Given the description of an element on the screen output the (x, y) to click on. 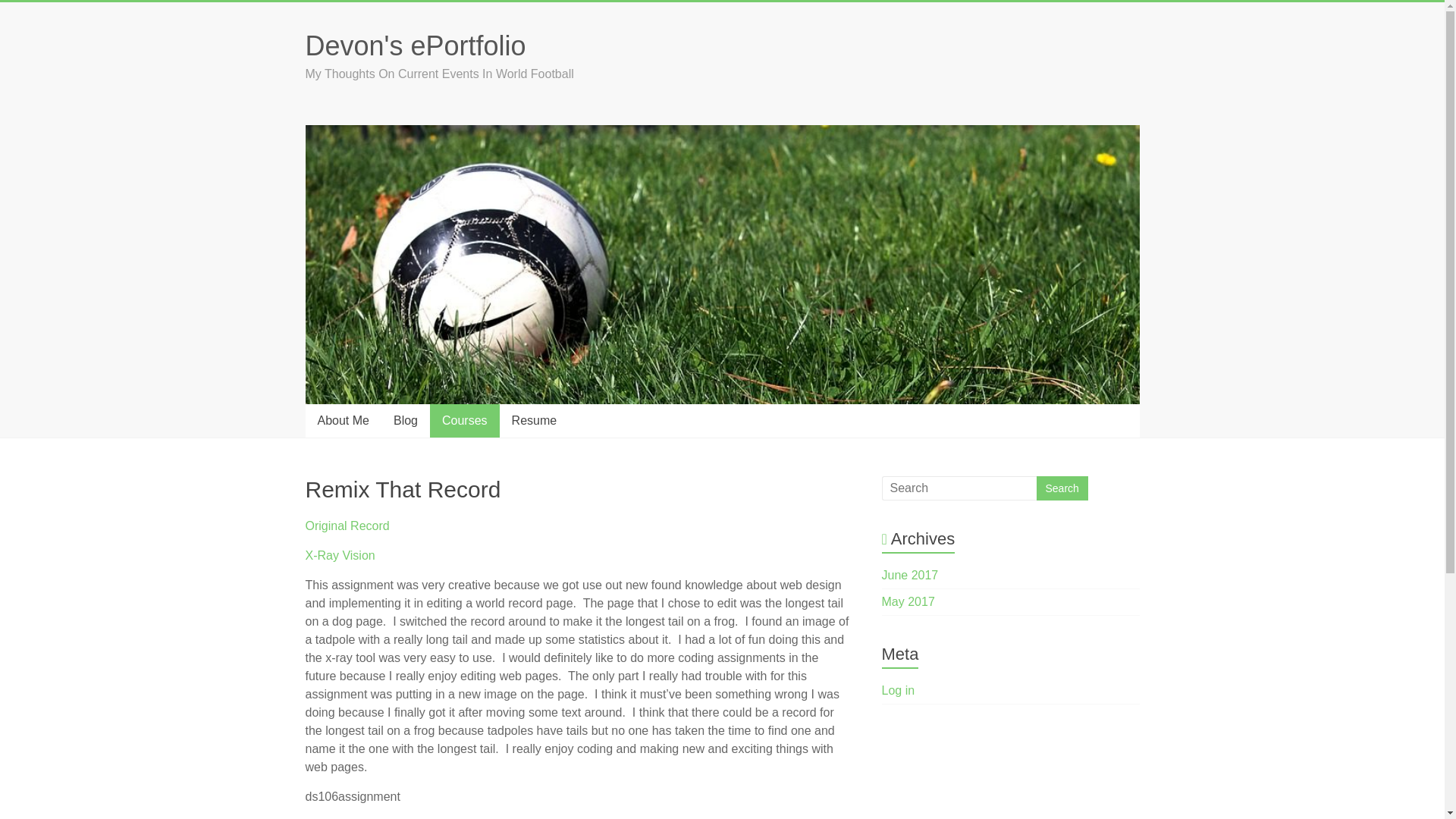
Devon's ePortfolio (414, 45)
Search (1061, 487)
Courses (464, 420)
Blog (405, 420)
May 2017 (908, 601)
Resume (534, 420)
Devon's ePortfolio (414, 45)
Log in (898, 689)
X-Ray Vision (339, 554)
About Me (342, 420)
